Given the description of an element on the screen output the (x, y) to click on. 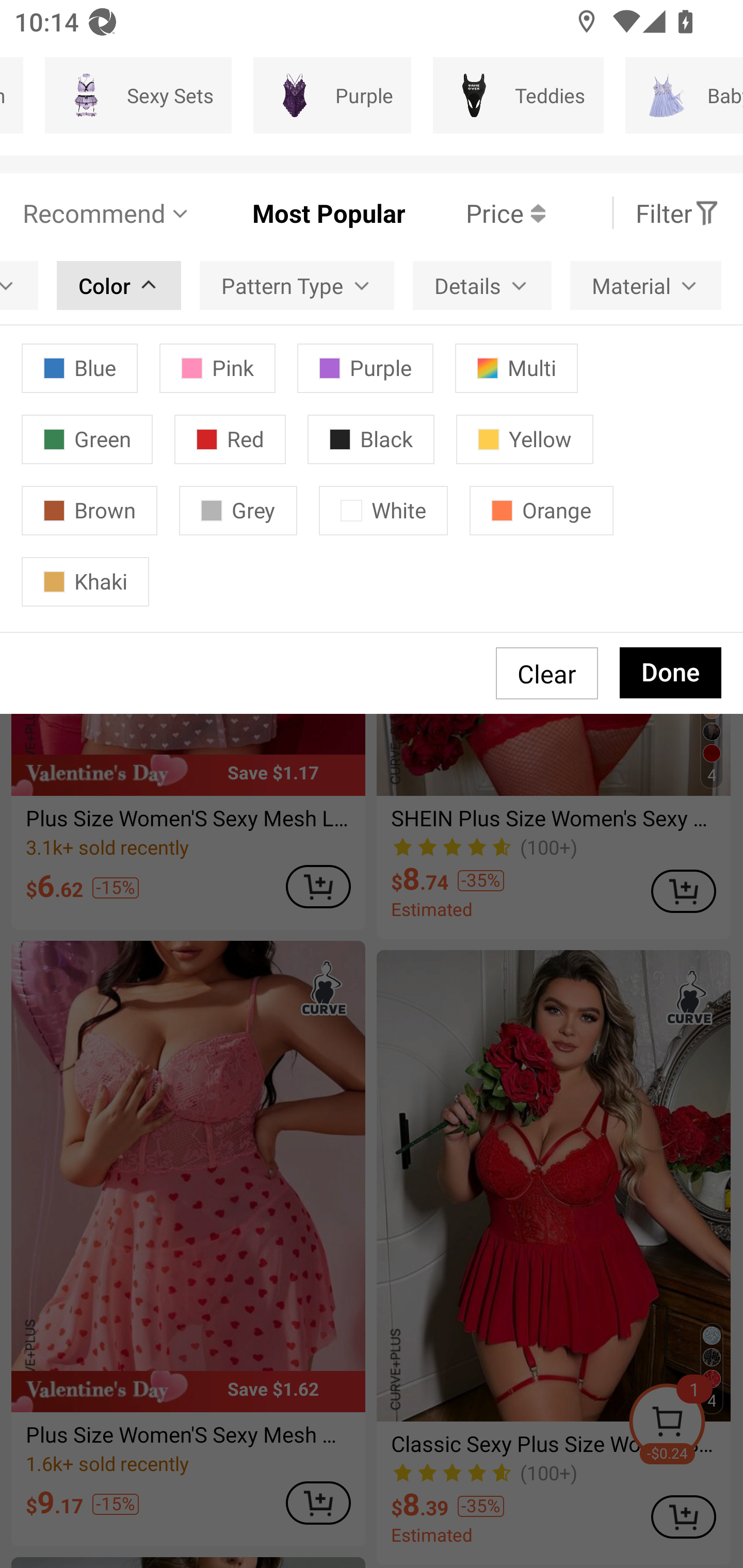
Sexy Sets (137, 95)
Purple (331, 95)
Teddies (518, 95)
Babydolls (684, 95)
Recommend (106, 213)
Most Popular (297, 213)
Price (474, 213)
Filter (677, 213)
Color (118, 285)
Pattern Type (296, 285)
Details (482, 285)
Material (645, 285)
